Given the description of an element on the screen output the (x, y) to click on. 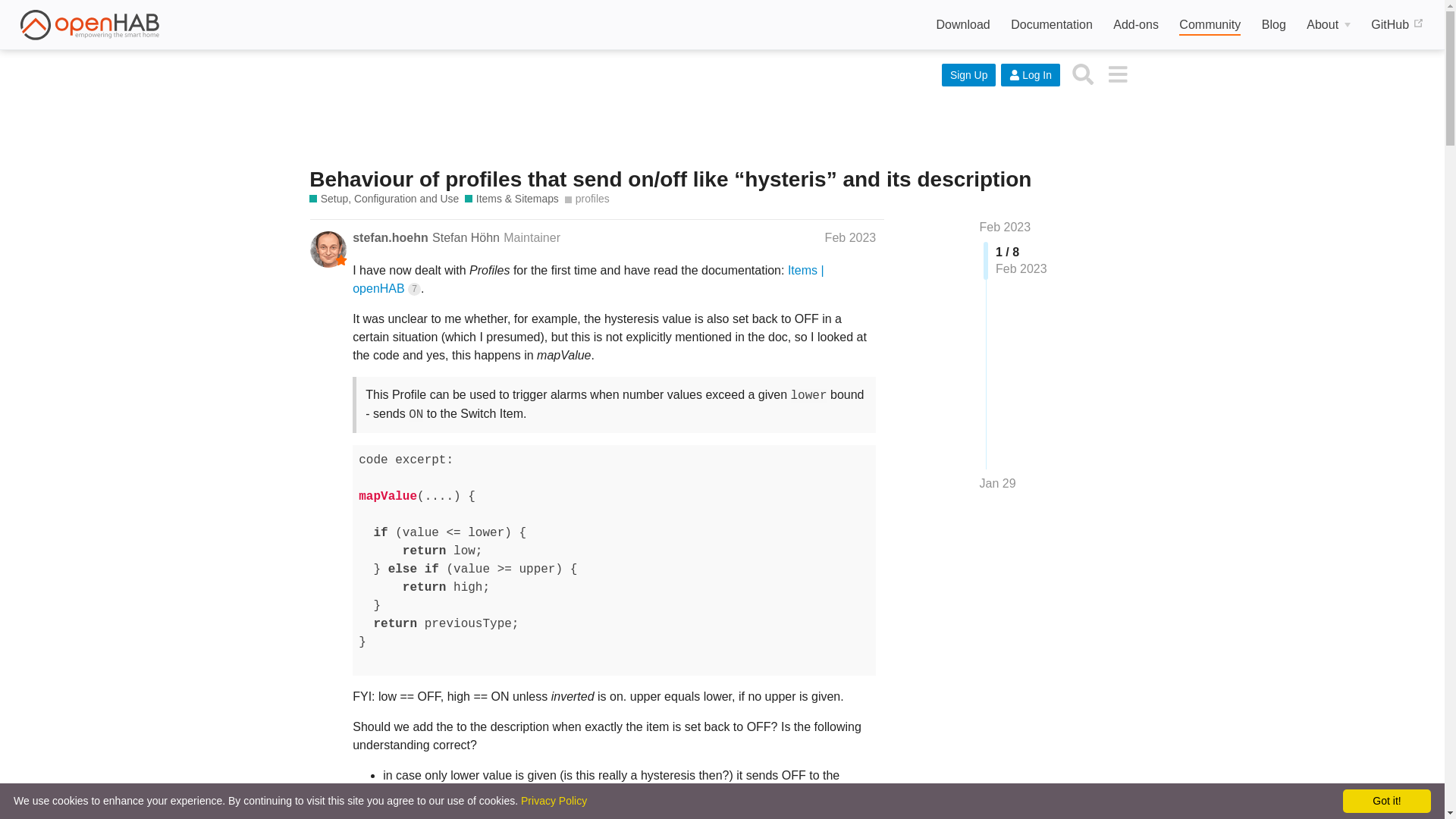
maintainers (341, 259)
Community (1209, 25)
Search (1082, 73)
Feb 2023 (1004, 226)
Jump to the first post (1004, 226)
stefan.hoehn (390, 238)
Post date (850, 237)
Documentation (1051, 25)
GitHub (1397, 25)
menu (1117, 73)
Add-ons (1135, 25)
7 clicks (413, 288)
Log In (1030, 74)
Blog (1273, 25)
About (1328, 25)
